Given the description of an element on the screen output the (x, y) to click on. 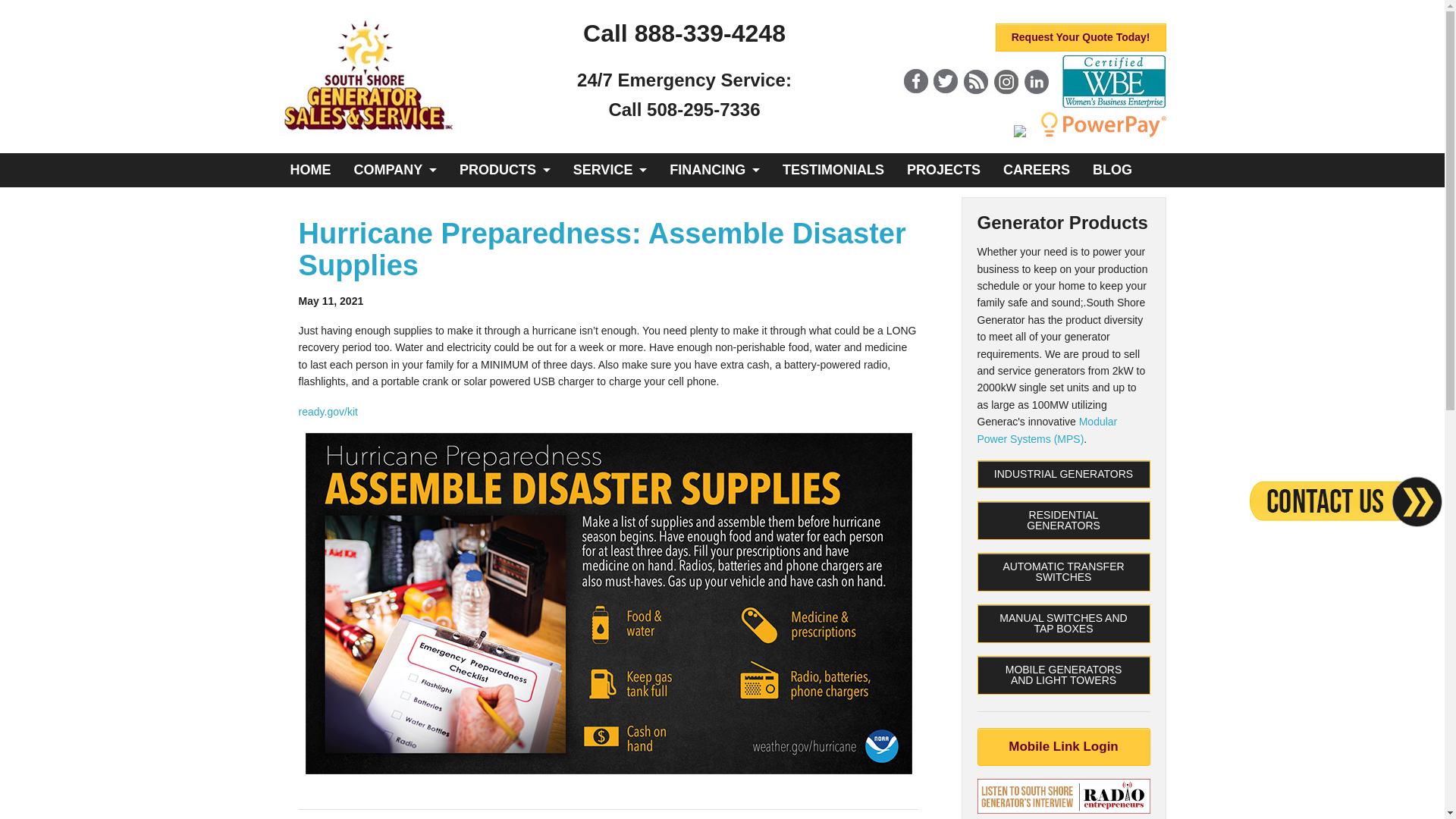
COMPANY (395, 170)
SERVICE (610, 170)
Request Your Quote Today! (1080, 37)
HOME (310, 170)
PRODUCTS (505, 170)
